Given the description of an element on the screen output the (x, y) to click on. 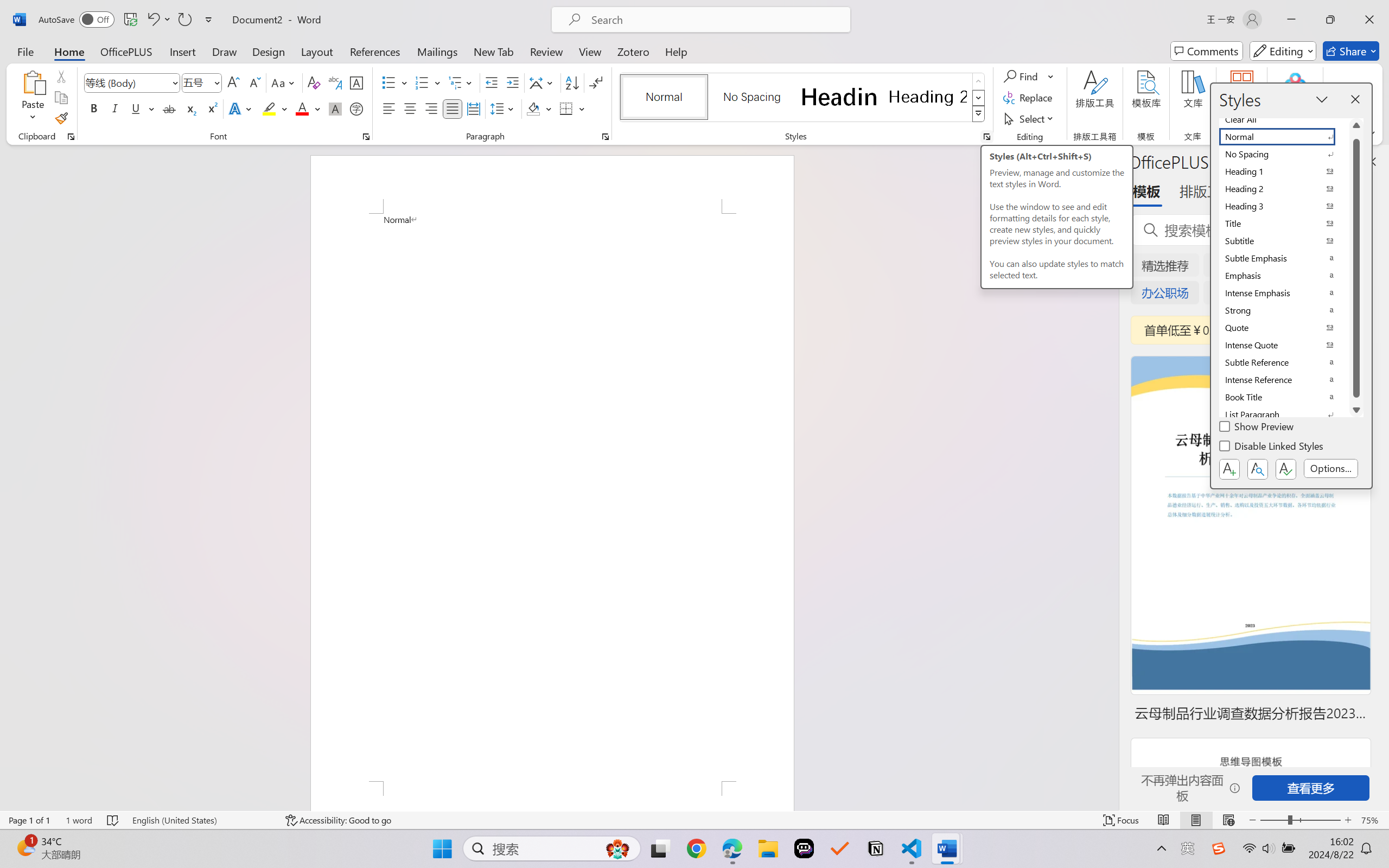
OfficePLUS (126, 51)
Underline (142, 108)
Disable Linked Styles (1272, 447)
Page 1 content (551, 497)
Italic (115, 108)
Numbering (421, 82)
Page Number Page 1 of 1 (29, 819)
Quote (1283, 327)
Zoom Out (1273, 819)
